Given the description of an element on the screen output the (x, y) to click on. 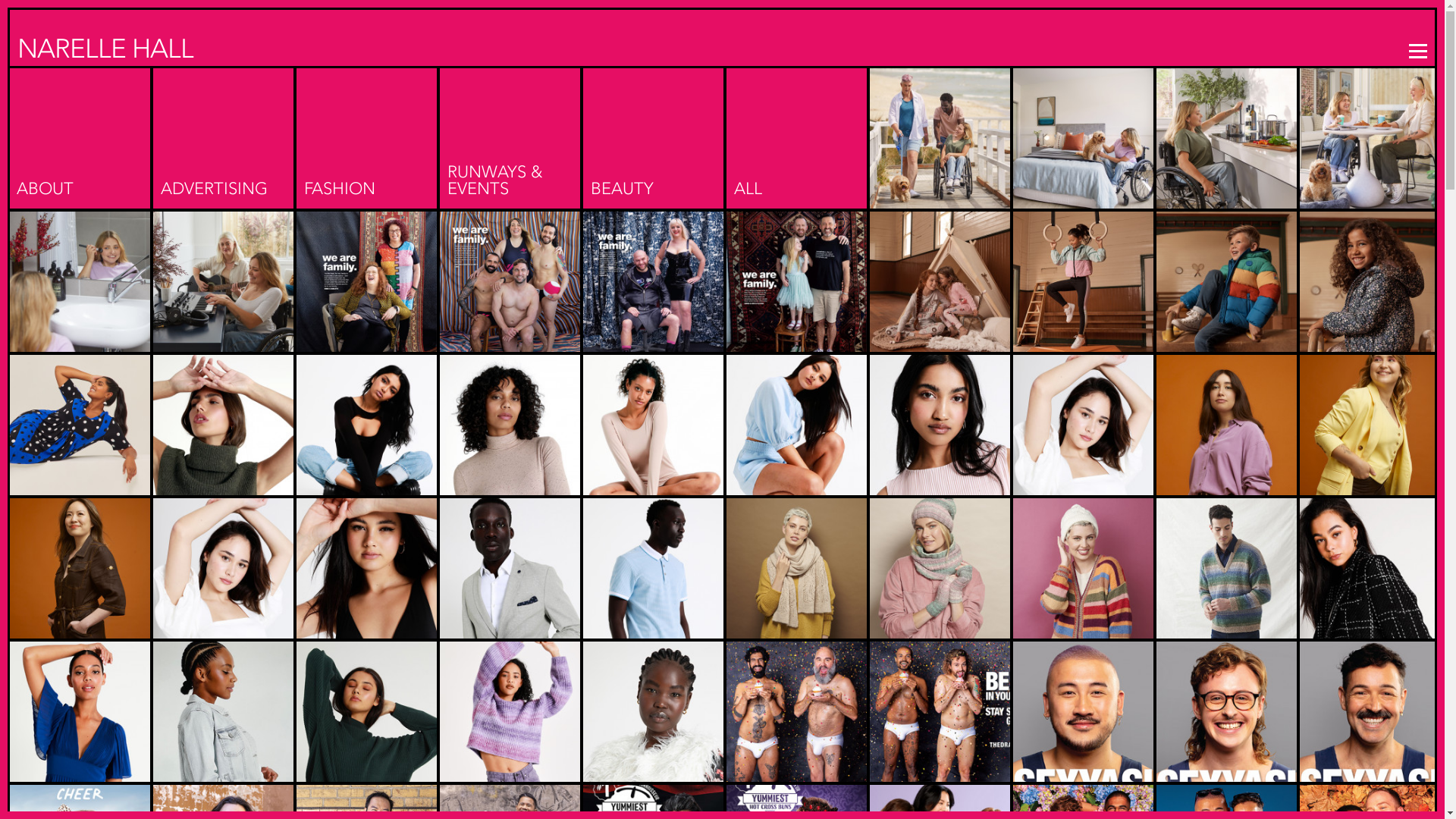
FASHION Element type: text (366, 129)
ADVERTISING Element type: text (223, 129)
BEAUTY Element type: text (653, 129)
RUNWAYS & EVENTS Element type: text (509, 121)
ALL Element type: text (796, 129)
